Given the description of an element on the screen output the (x, y) to click on. 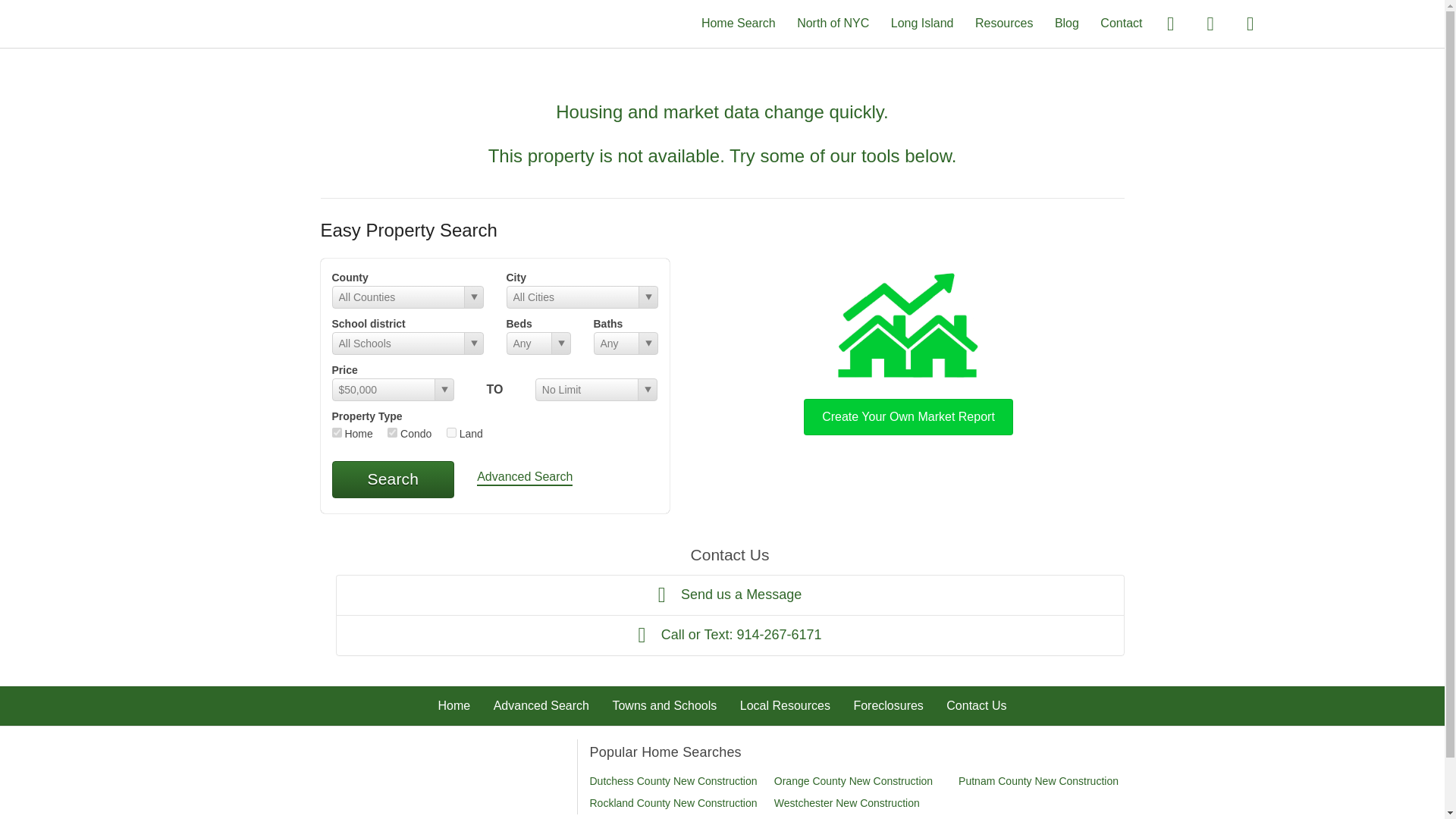
Search (392, 479)
Call or Text: 914-267-6171 (729, 635)
Resources (1003, 22)
Contact (1120, 22)
Rockland County New Construction (673, 802)
Westchester New Construction (847, 802)
Contact Us (976, 705)
Long Island (922, 22)
Home Search (738, 22)
Home (454, 705)
